Given the description of an element on the screen output the (x, y) to click on. 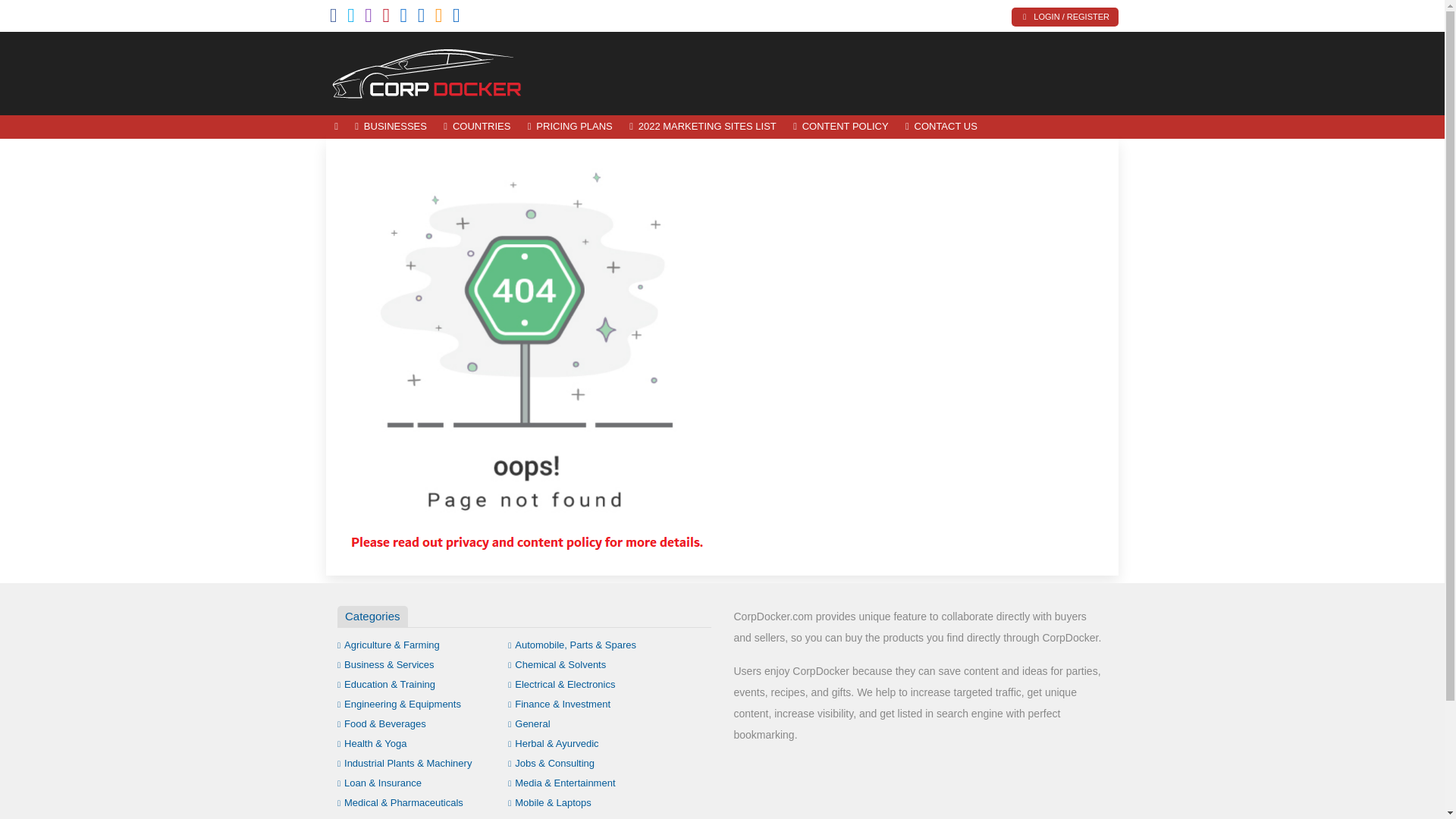
BUSINESSES (390, 126)
CONTENT POLICY (840, 126)
COUNTRIES (476, 126)
2022 MARKETING SITES LIST (702, 126)
CONTACT US (940, 126)
General (529, 723)
PRICING PLANS (570, 126)
